Given the description of an element on the screen output the (x, y) to click on. 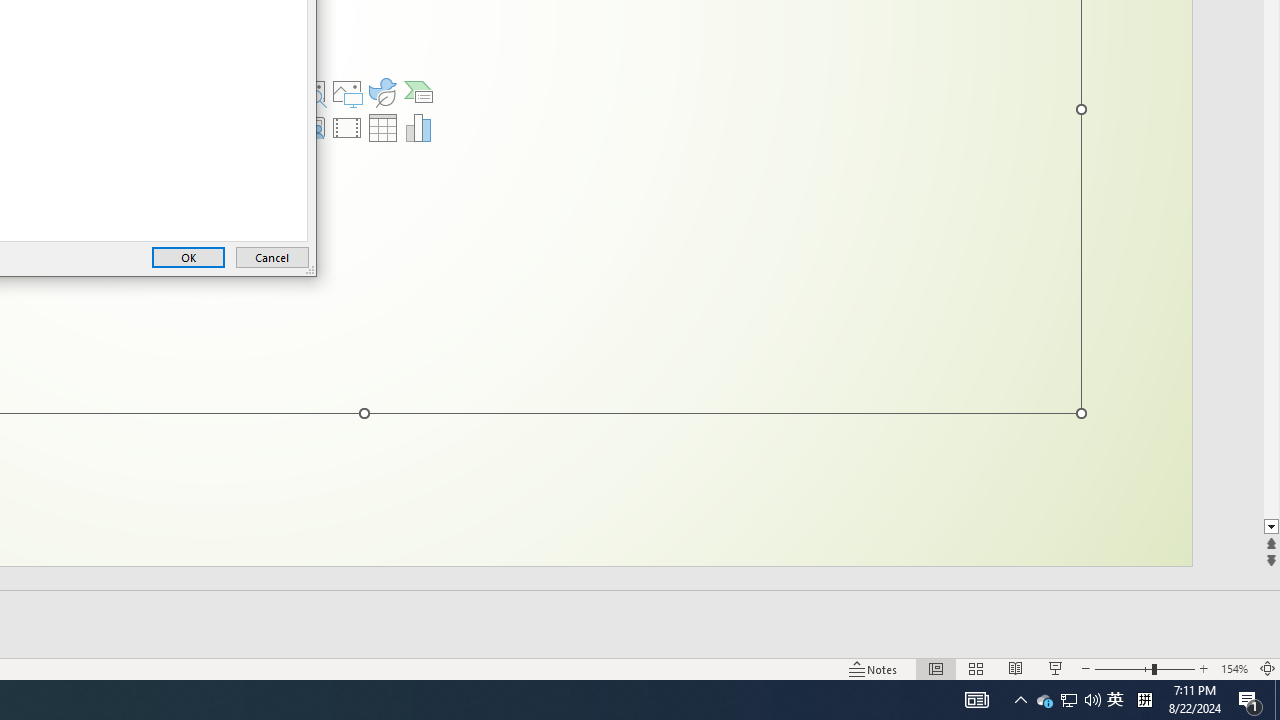
Insert Chart (419, 128)
Zoom 154% (1234, 668)
Insert a SmartArt Graphic (419, 92)
